Given the description of an element on the screen output the (x, y) to click on. 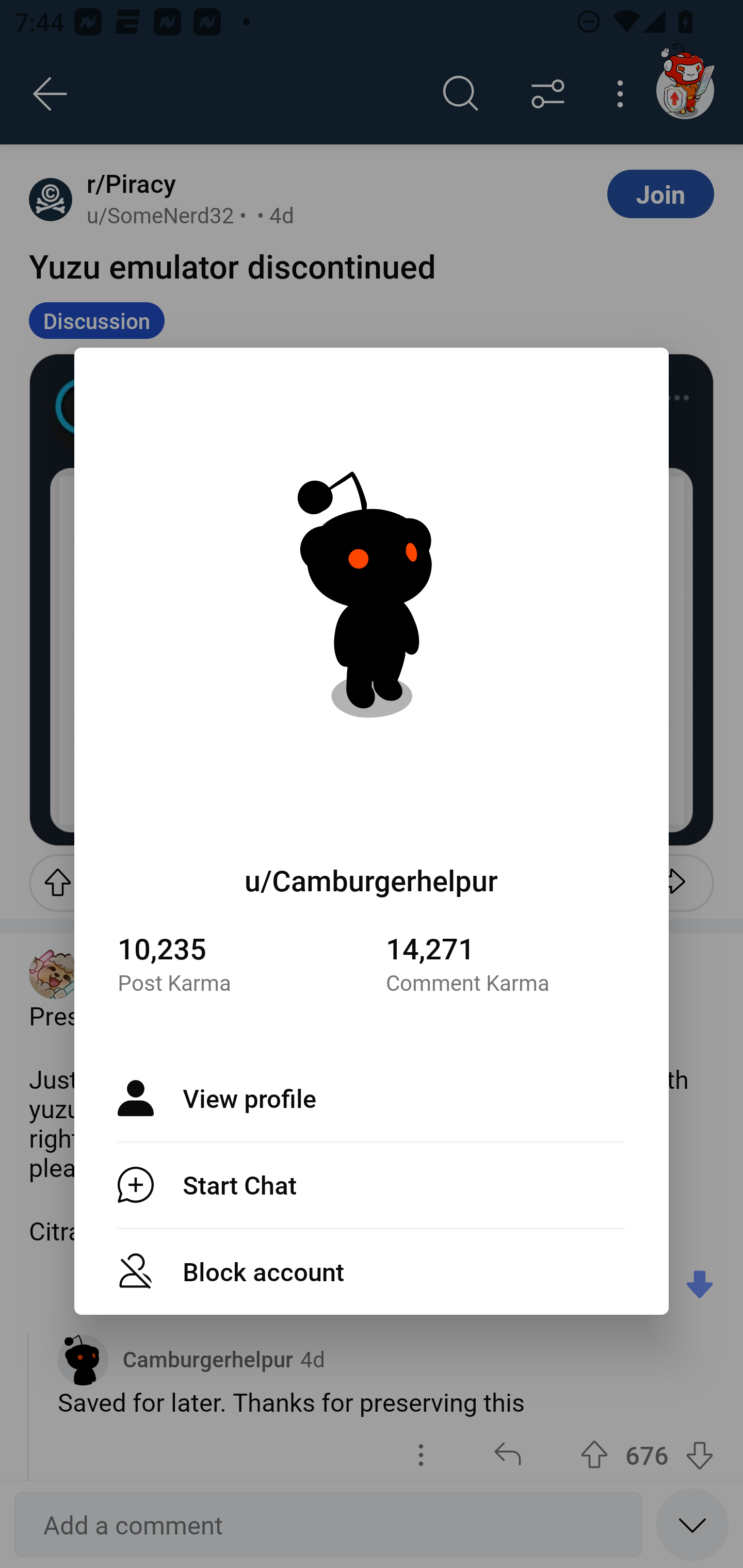
u/Camburgerhelpur (371, 880)
View profile (371, 1098)
Start Chat (371, 1184)
Block account (371, 1270)
